Given the description of an element on the screen output the (x, y) to click on. 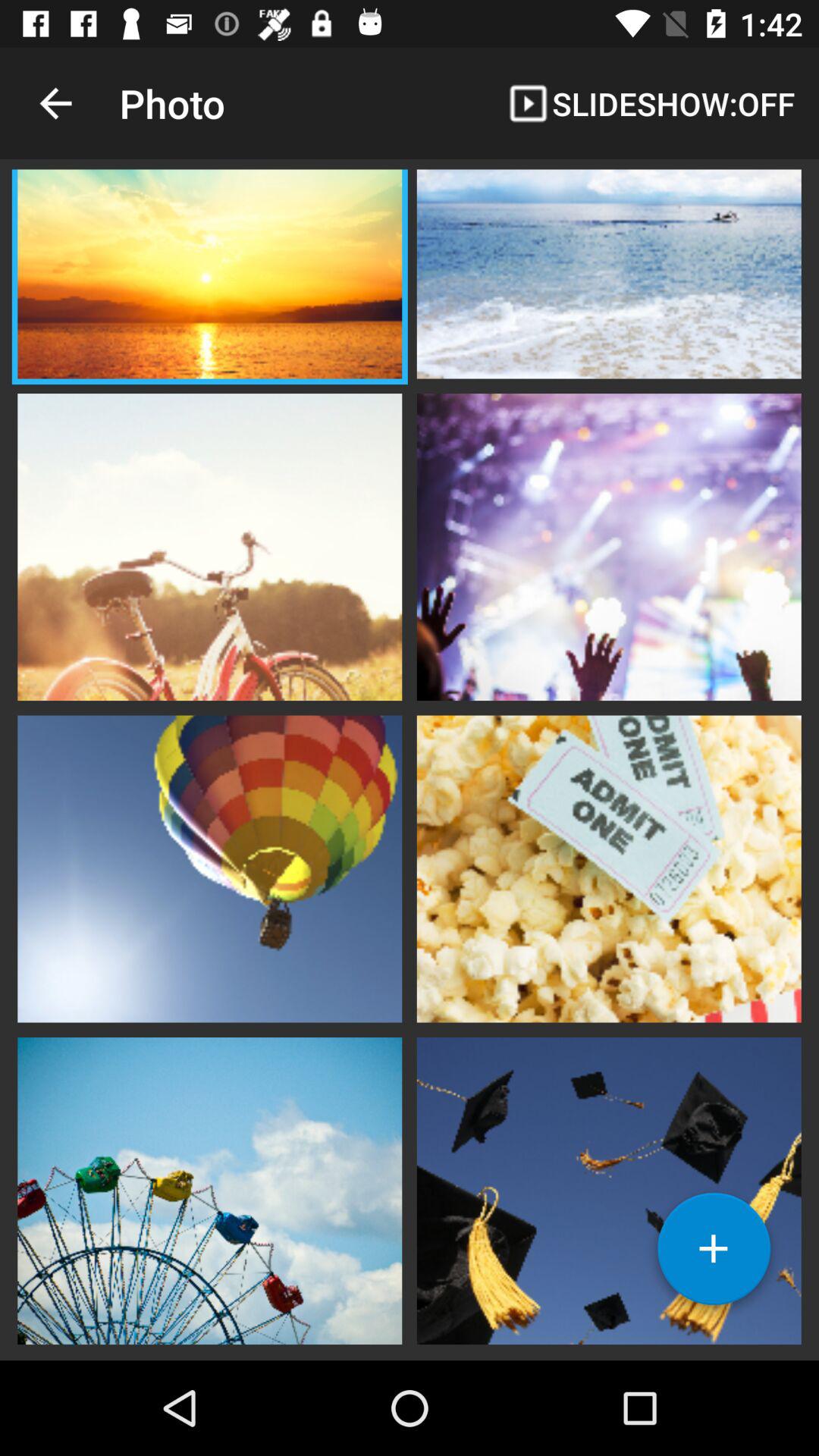
pitcher (209, 1189)
